Given the description of an element on the screen output the (x, y) to click on. 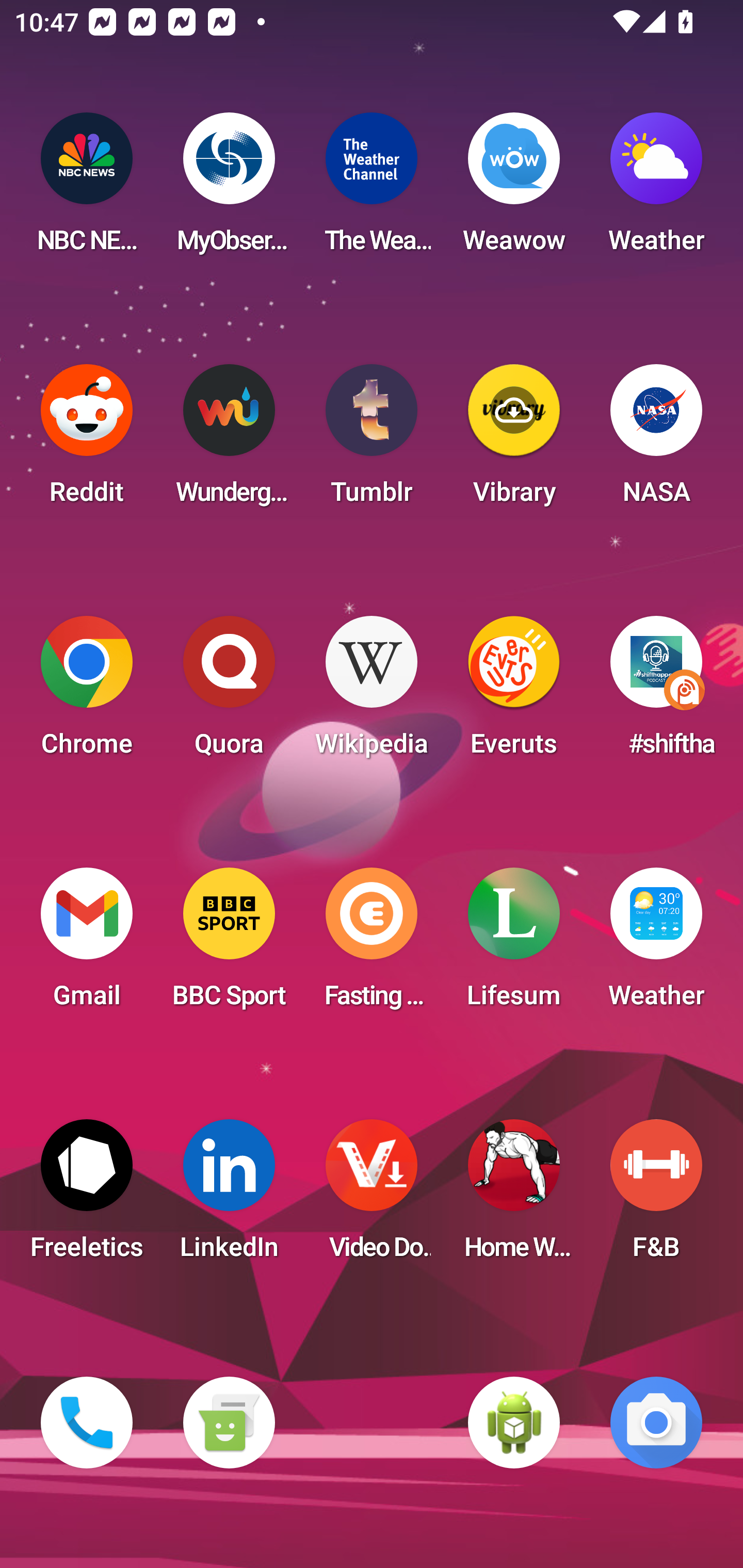
NBC NEWS (86, 188)
MyObservatory (228, 188)
The Weather Channel (371, 188)
Weawow (513, 188)
Weather (656, 188)
Reddit (86, 440)
Wunderground (228, 440)
Tumblr (371, 440)
Vibrary (513, 440)
NASA (656, 440)
Chrome (86, 692)
Quora (228, 692)
Wikipedia (371, 692)
Everuts (513, 692)
#shifthappens in the Digital Workplace Podcast (656, 692)
Gmail (86, 943)
BBC Sport (228, 943)
Fasting Coach (371, 943)
Lifesum (513, 943)
Weather (656, 943)
Freeletics (86, 1195)
LinkedIn (228, 1195)
Video Downloader & Ace Player (371, 1195)
Home Workout (513, 1195)
F&B (656, 1195)
Phone (86, 1422)
Messaging (228, 1422)
WebView Browser Tester (513, 1422)
Camera (656, 1422)
